Given the description of an element on the screen output the (x, y) to click on. 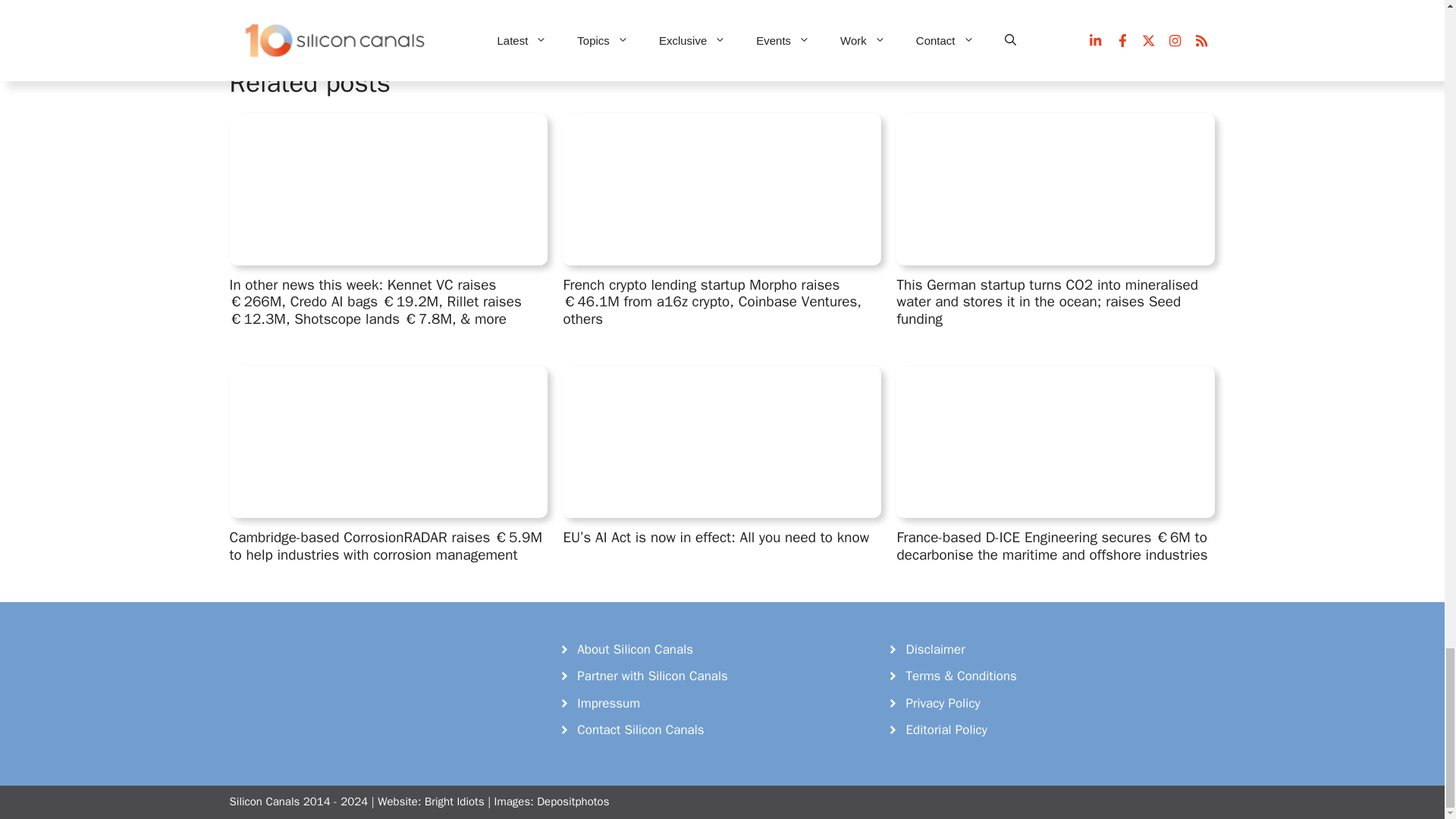
Silicon Canals logo white SC (342, 670)
